Given the description of an element on the screen output the (x, y) to click on. 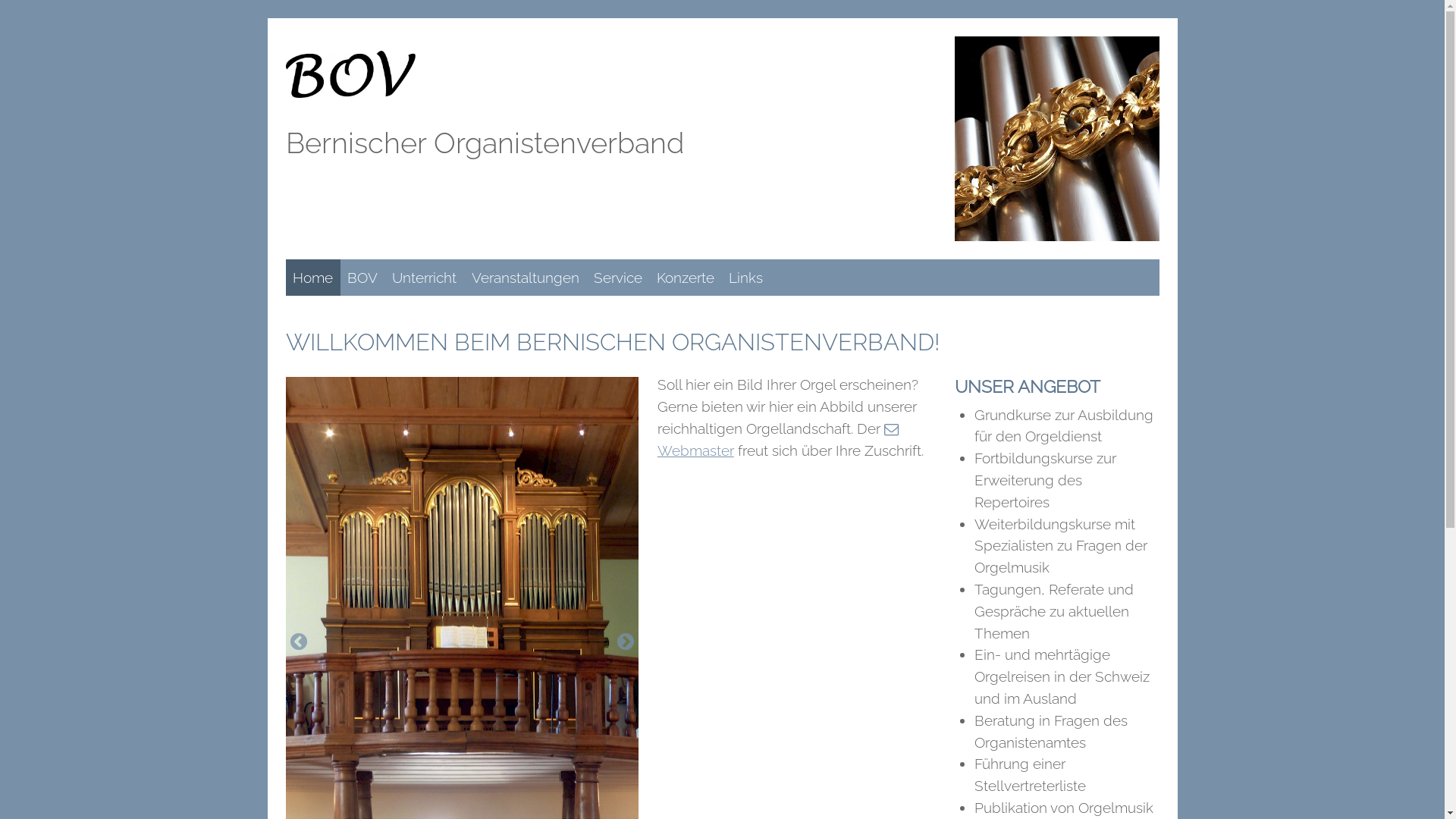
Links Element type: text (745, 277)
Bernischer Organistenverband Element type: text (484, 142)
Home Element type: text (312, 277)
Next Element type: text (625, 642)
Service Element type: text (617, 277)
Webmaster Element type: text (780, 439)
Konzerte Element type: text (685, 277)
Unterricht Element type: text (424, 277)
Previous Element type: text (297, 642)
BOV Element type: text (362, 277)
Veranstaltungen Element type: text (525, 277)
